Given the description of an element on the screen output the (x, y) to click on. 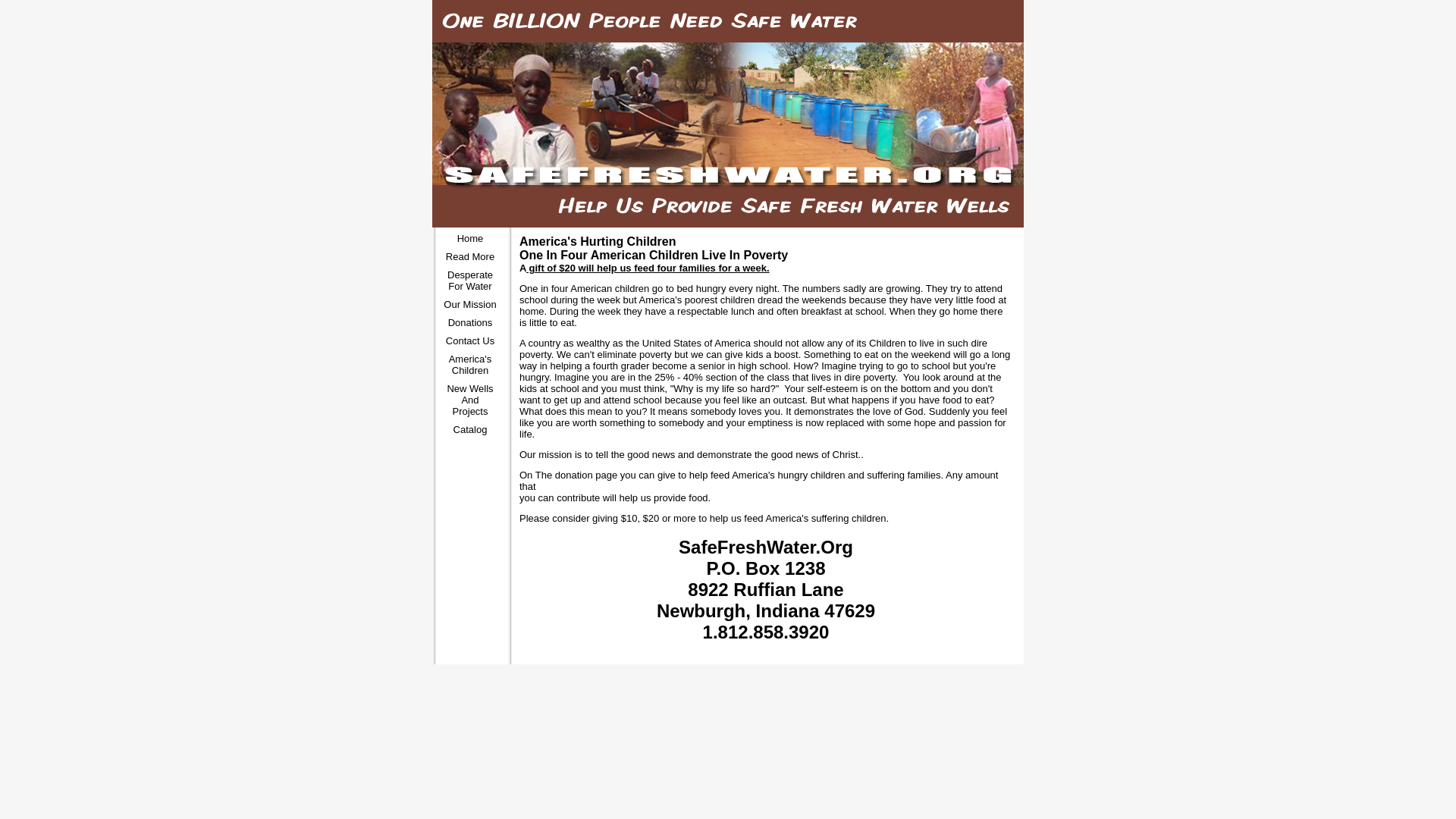
Donations (470, 322)
America's Children (470, 363)
Desperate For Water (469, 280)
Read More (470, 256)
Our Mission (470, 304)
New Wells And Projects (469, 399)
Contact Us (470, 340)
Catalog (469, 429)
Home (470, 238)
